Given the description of an element on the screen output the (x, y) to click on. 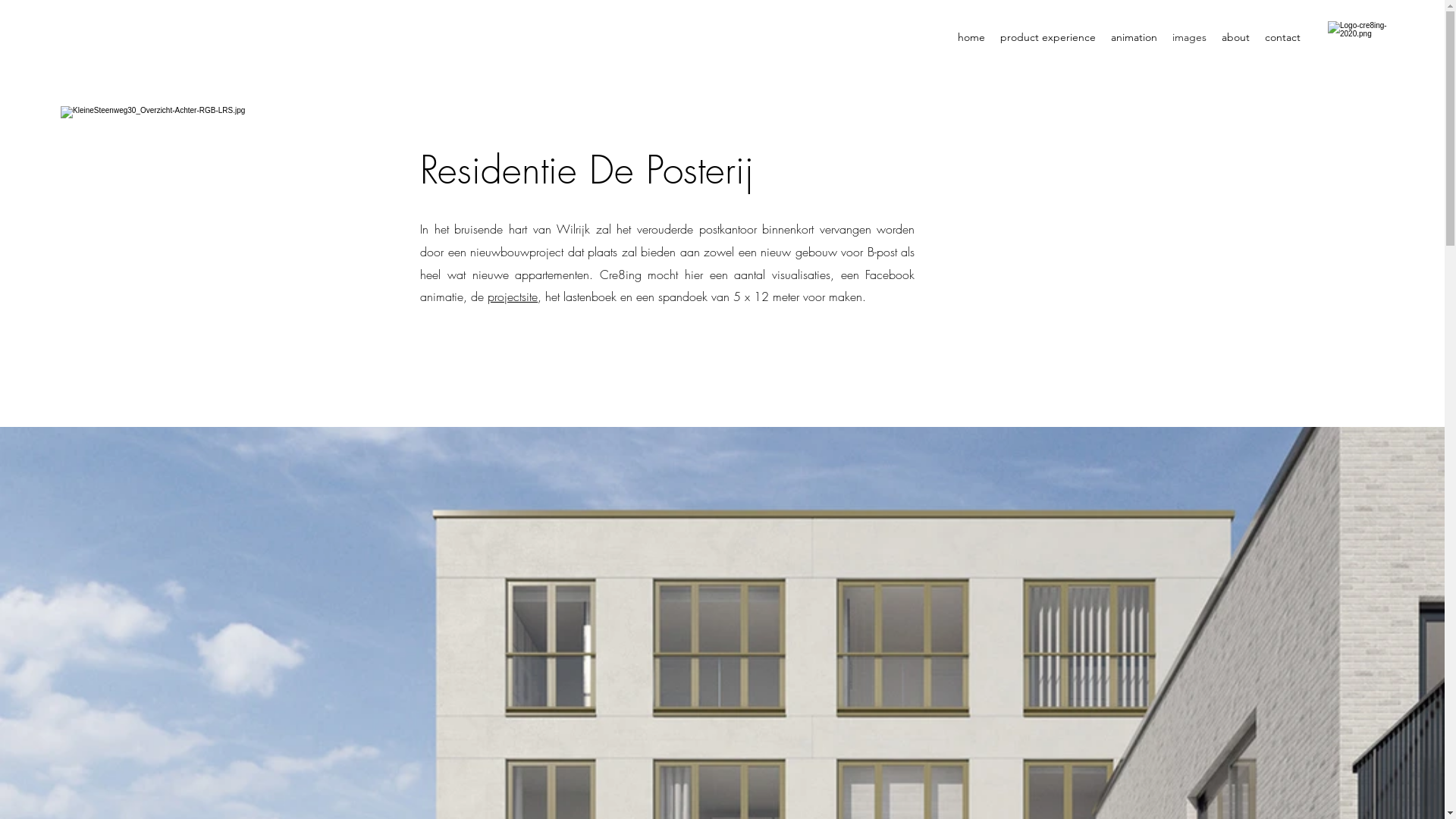
about Element type: text (1235, 36)
images Element type: text (1189, 36)
home Element type: text (971, 36)
animation Element type: text (1133, 36)
contact Element type: text (1282, 36)
product experience Element type: text (1047, 36)
projectsite Element type: text (512, 296)
